Given the description of an element on the screen output the (x, y) to click on. 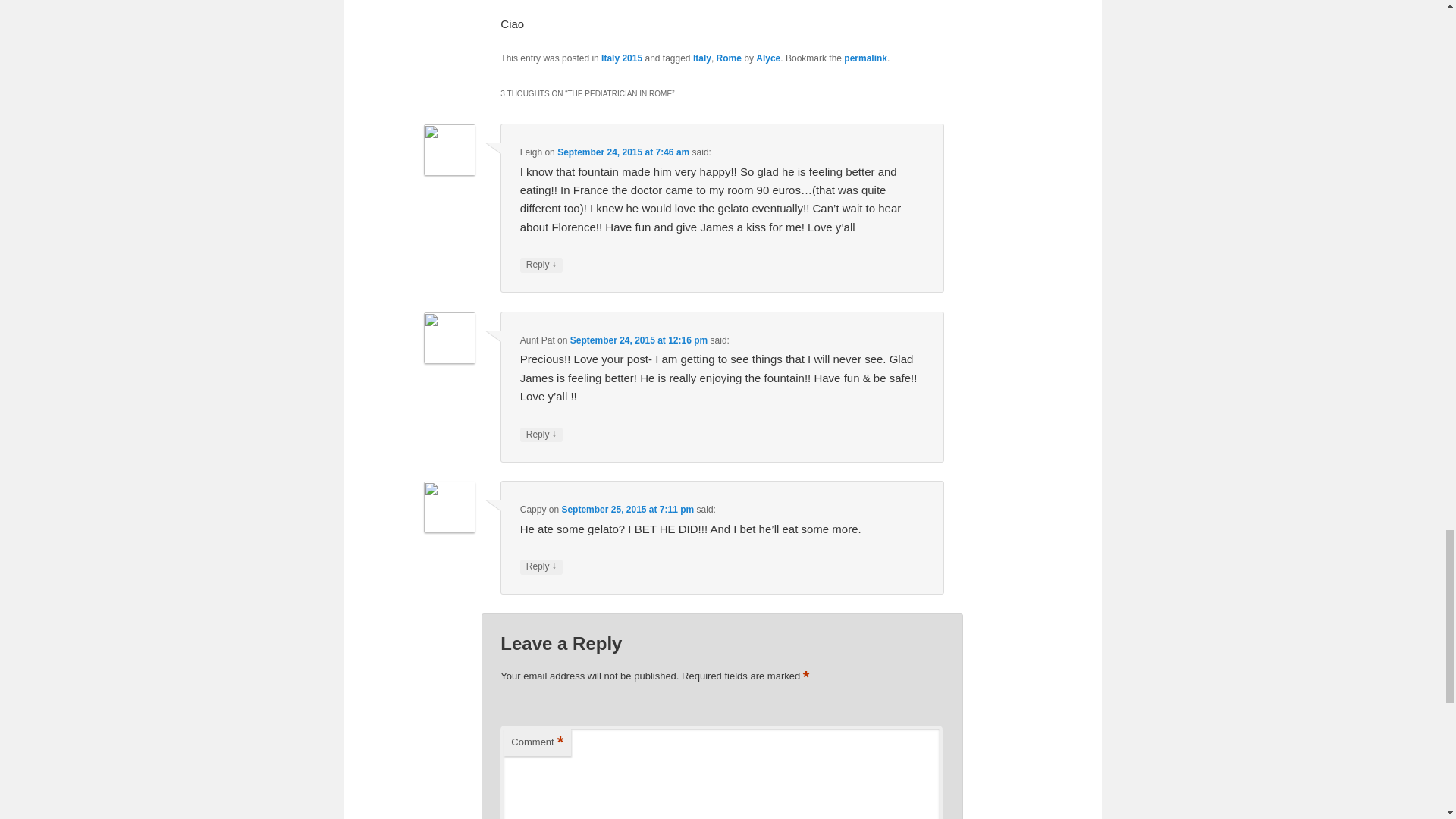
Italy 2015 (621, 58)
Alyce (767, 58)
permalink (865, 58)
September 25, 2015 at 7:11 pm (627, 509)
Rome (728, 58)
September 24, 2015 at 7:46 am (622, 152)
Italy (702, 58)
September 24, 2015 at 12:16 pm (638, 339)
Permalink to The Pediatrician in Rome (865, 58)
